Given the description of an element on the screen output the (x, y) to click on. 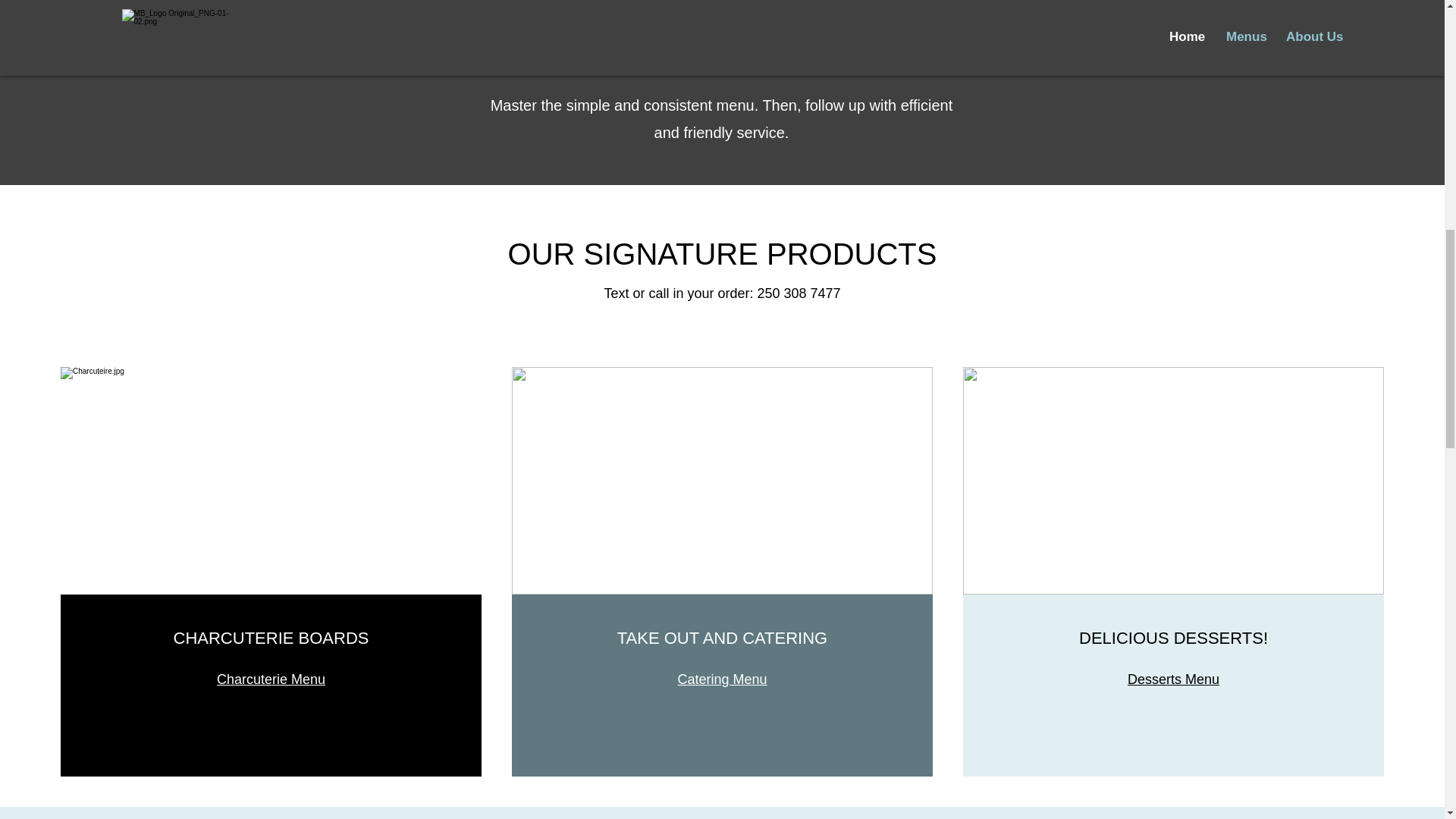
Charcuterie Menu (270, 679)
Catering Menu (722, 679)
Desserts Menu (1173, 679)
